Given the description of an element on the screen output the (x, y) to click on. 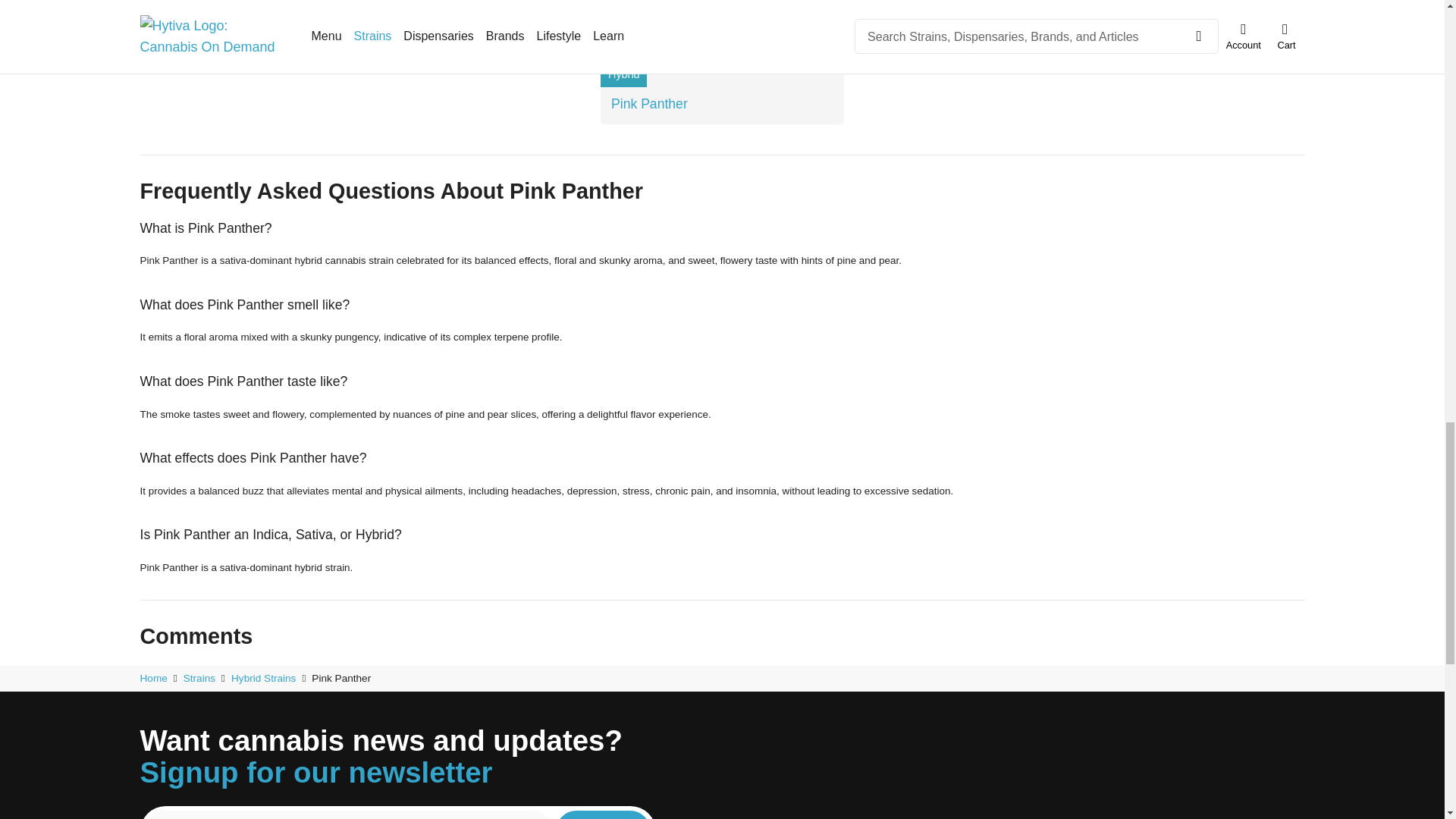
Pink Panther - Hybrid Cannabis Strain by Hytiva (721, 51)
